Given the description of an element on the screen output the (x, y) to click on. 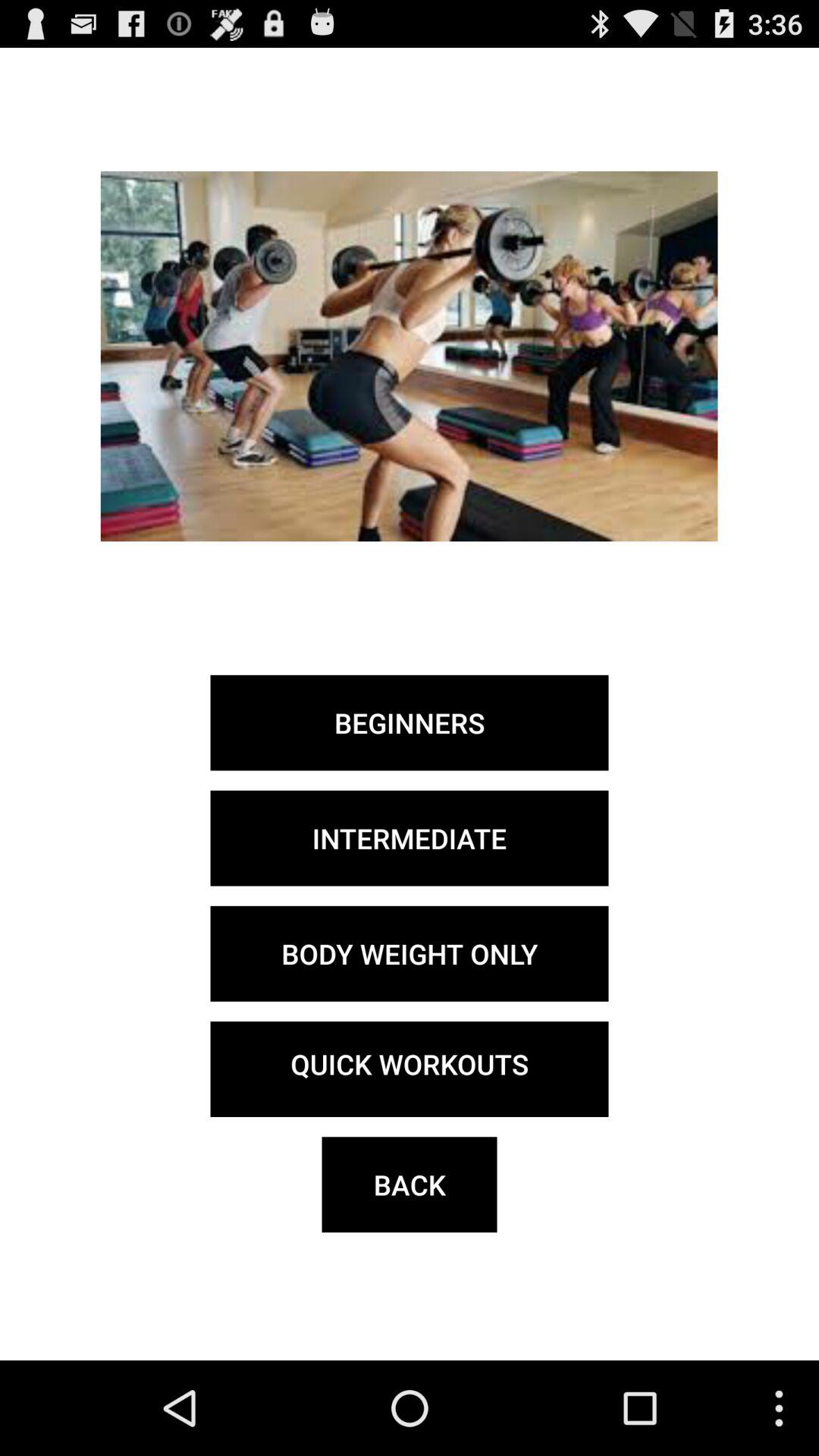
click icon above intermediate button (409, 722)
